Given the description of an element on the screen output the (x, y) to click on. 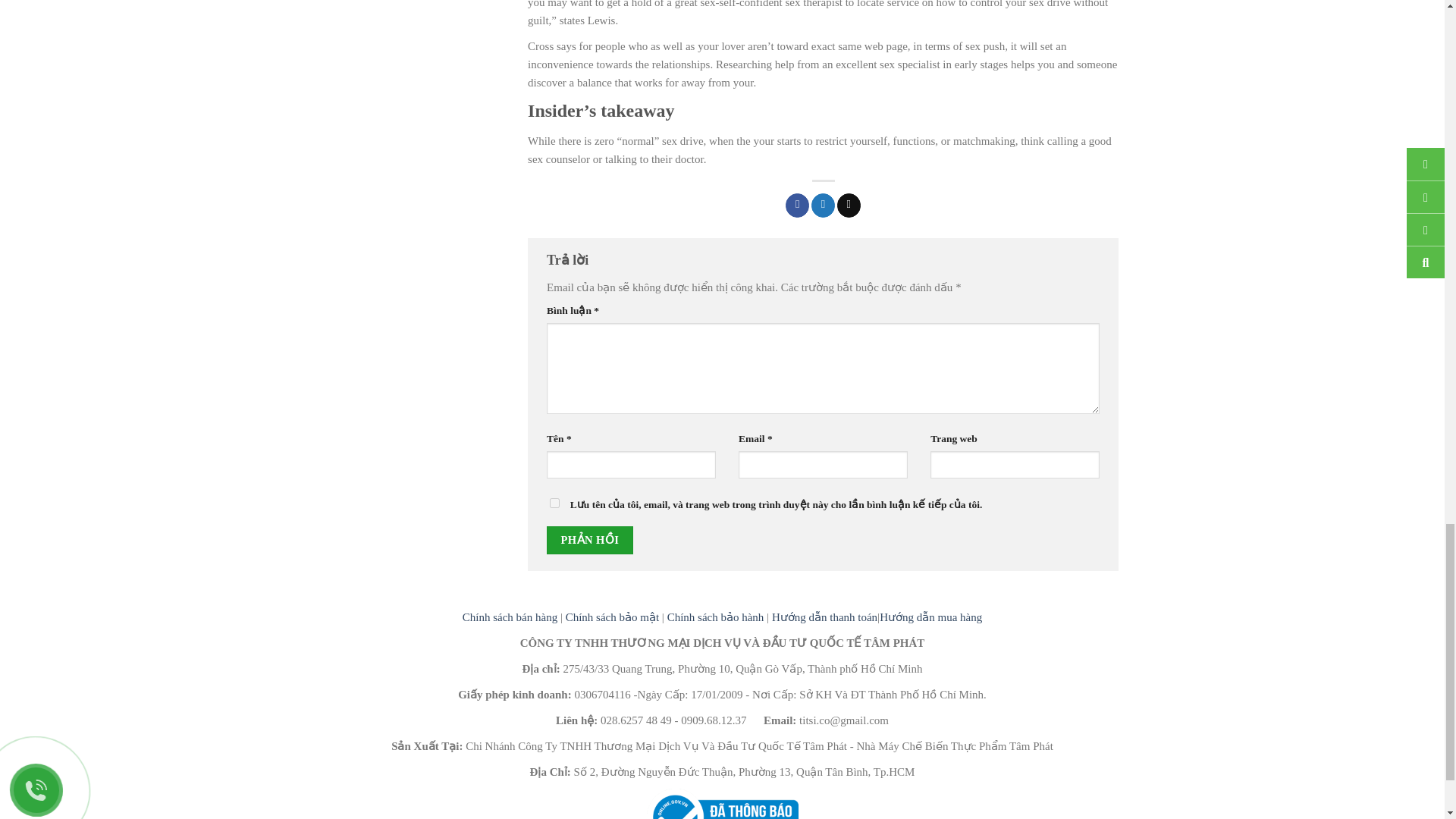
yes (554, 502)
